Given the description of an element on the screen output the (x, y) to click on. 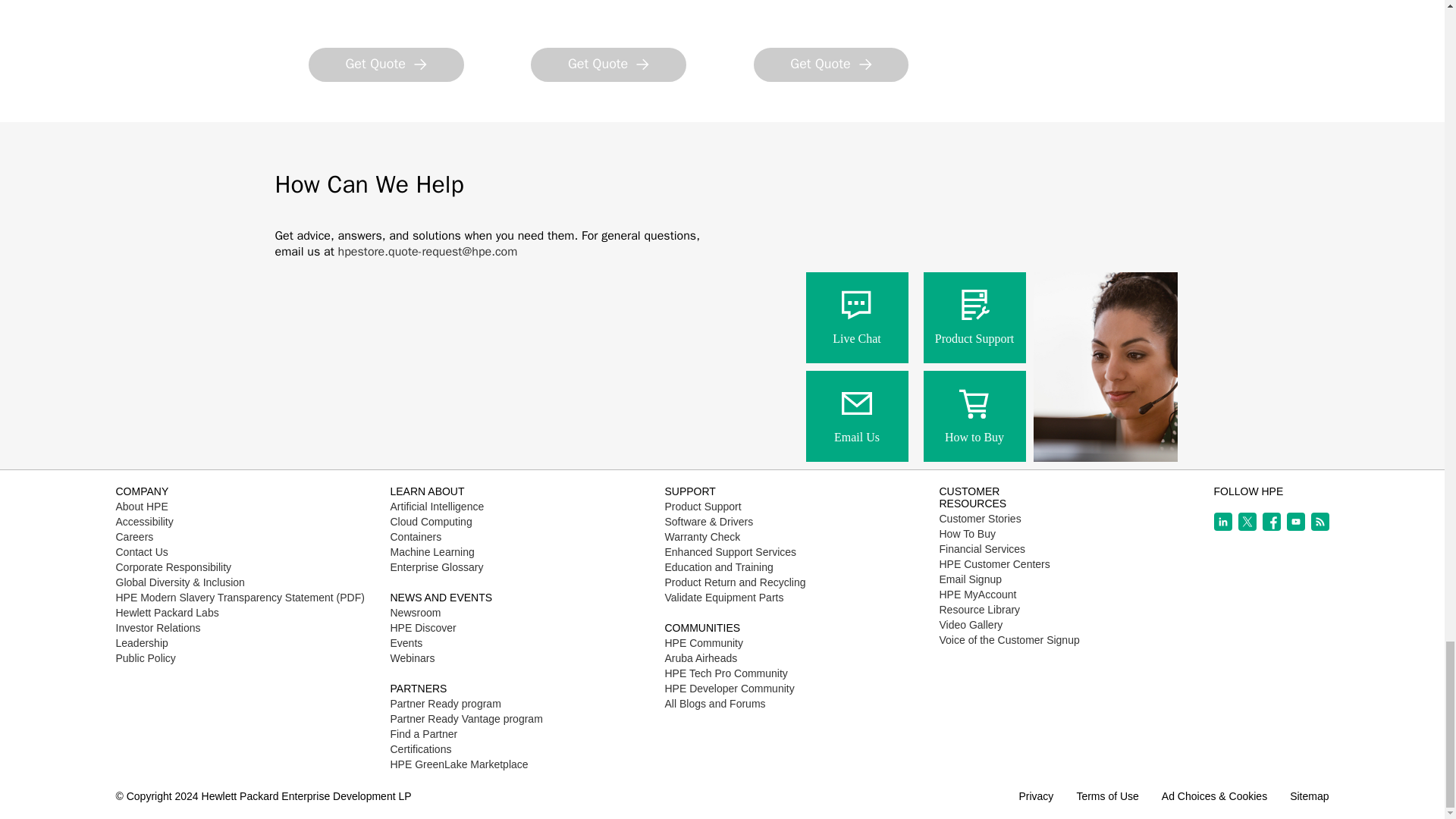
LinkedIn - new window (1221, 521)
Facebook - new window (1270, 521)
X - new window (1246, 521)
